Given the description of an element on the screen output the (x, y) to click on. 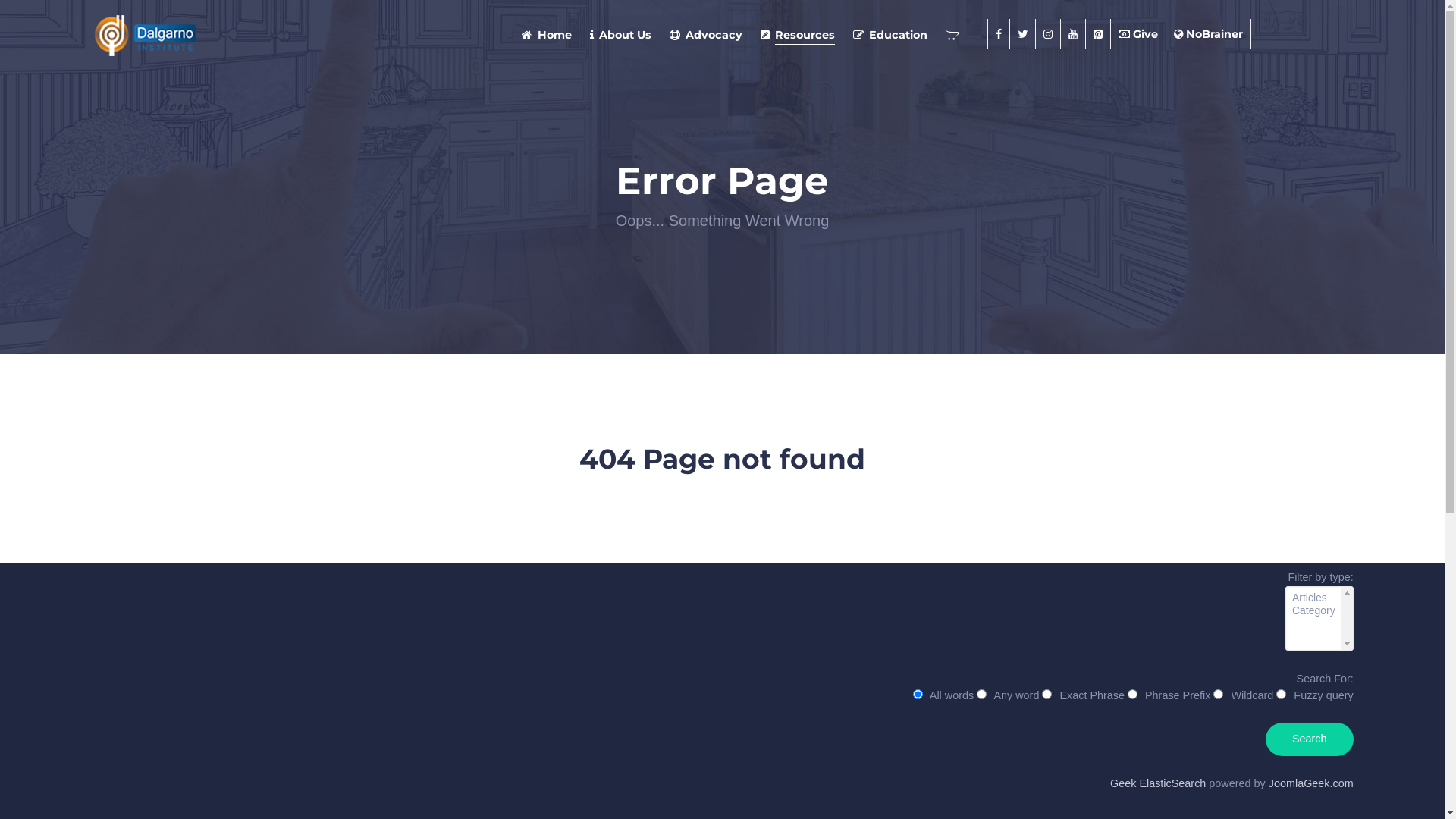
Contact Us Element type: text (776, 233)
read more Element type: text (161, 270)
Search Element type: text (1309, 739)
Facebook Element type: hover (1267, 408)
NoBrainer Element type: text (1208, 33)
Online Store Element type: text (782, 257)
Resources Element type: text (797, 34)
Twitter Element type: hover (1293, 408)
Geek ElasticSearch Element type: text (1157, 783)
YouTube Element type: hover (1348, 408)
Dalgarno Institute Element type: hover (222, 33)
Visit us on FaceBook Element type: hover (998, 33)
YouTube Channel Element type: hover (1072, 33)
Pintrest Element type: hover (1097, 33)
Instagram Element type: hover (1321, 408)
Home Element type: text (545, 34)
office use only Element type: text (118, 441)
Education Element type: text (890, 34)
Twitter Element type: hover (1022, 33)
Instagram Element type: hover (1047, 33)
Give Element type: text (1138, 33)
Store Element type: hover (955, 34)
Advocacy Element type: text (705, 34)
About Us Element type: text (619, 34)
JoomlaGeek.com Element type: text (1310, 783)
Search Element type: hover (1329, 442)
PresData Services Element type: text (254, 425)
